Given the description of an element on the screen output the (x, y) to click on. 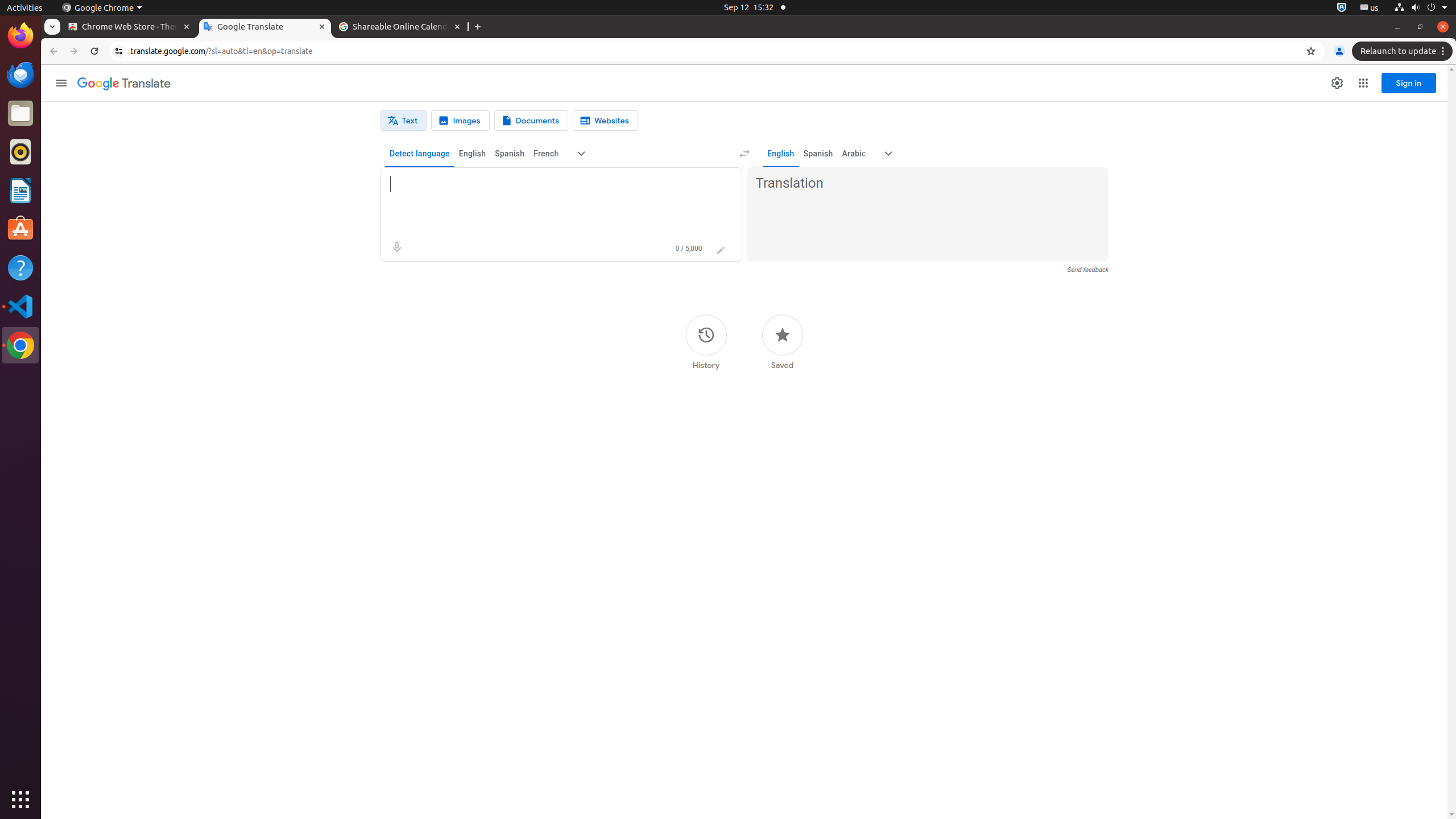
Source text Element type: combo-box (550, 183)
Sign in Element type: link (1408, 82)
:1.21/StatusNotifierItem Element type: menu (1369, 7)
Files Element type: push-button (20, 113)
History Element type: link (705, 342)
